Given the description of an element on the screen output the (x, y) to click on. 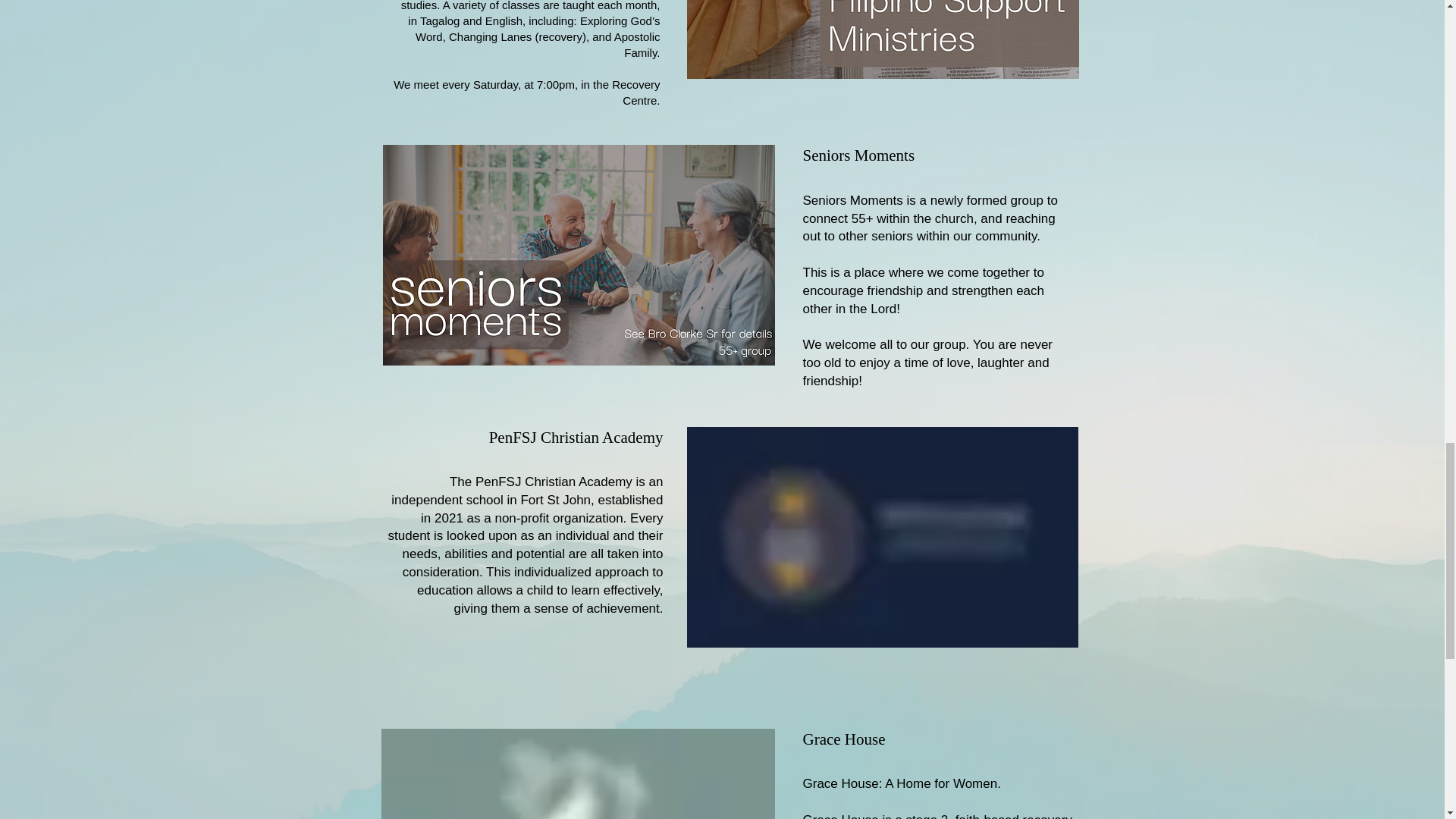
PenFSJ Christian Academy (576, 437)
Seniors Moments (858, 155)
Grace House (843, 739)
